Given the description of an element on the screen output the (x, y) to click on. 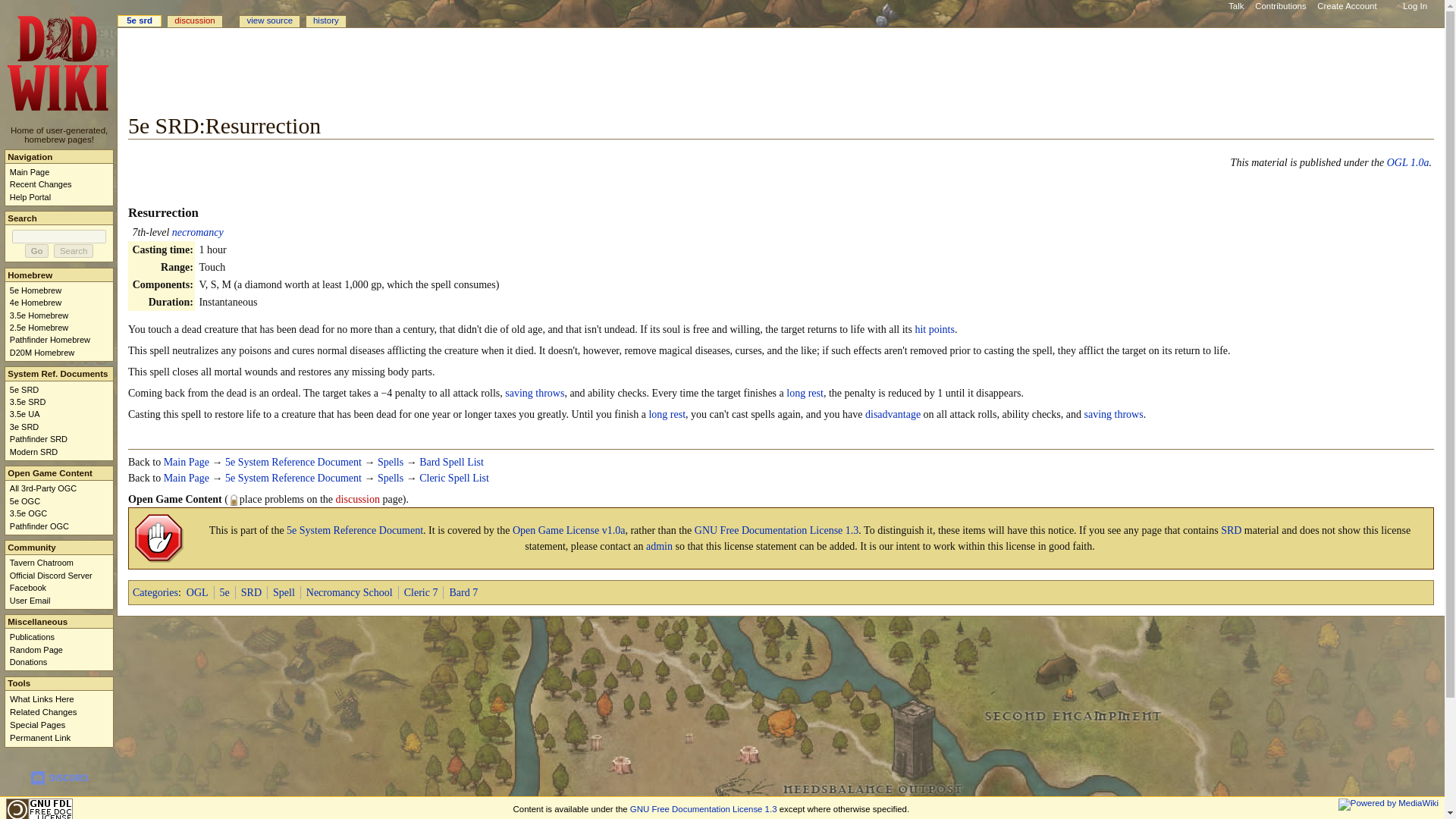
Main Page (186, 478)
Categories (154, 592)
5e SRD:Bard Spell List (451, 461)
5e SRD:System Reference Document (293, 461)
Open Game License v1.0a (1408, 162)
5e System Reference Document (293, 461)
5e SRD:Disadvantage (892, 414)
view source (269, 21)
5e SRD:Long Rest (805, 392)
saving throws (1113, 414)
Spells (390, 461)
Search (73, 250)
long rest (805, 392)
Main Page (186, 478)
disadvantage (892, 414)
